Given the description of an element on the screen output the (x, y) to click on. 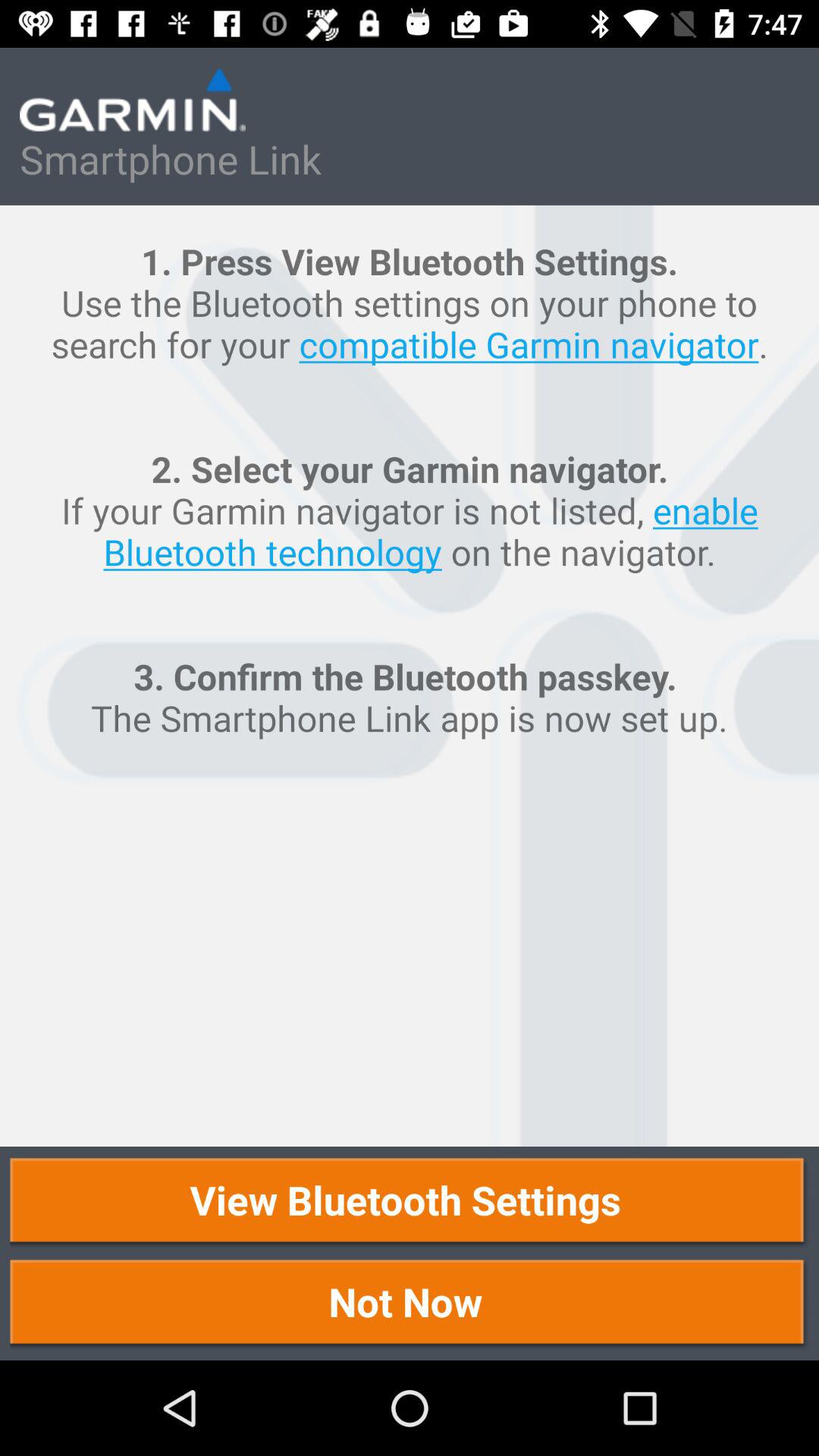
flip until the not now icon (409, 1304)
